Given the description of an element on the screen output the (x, y) to click on. 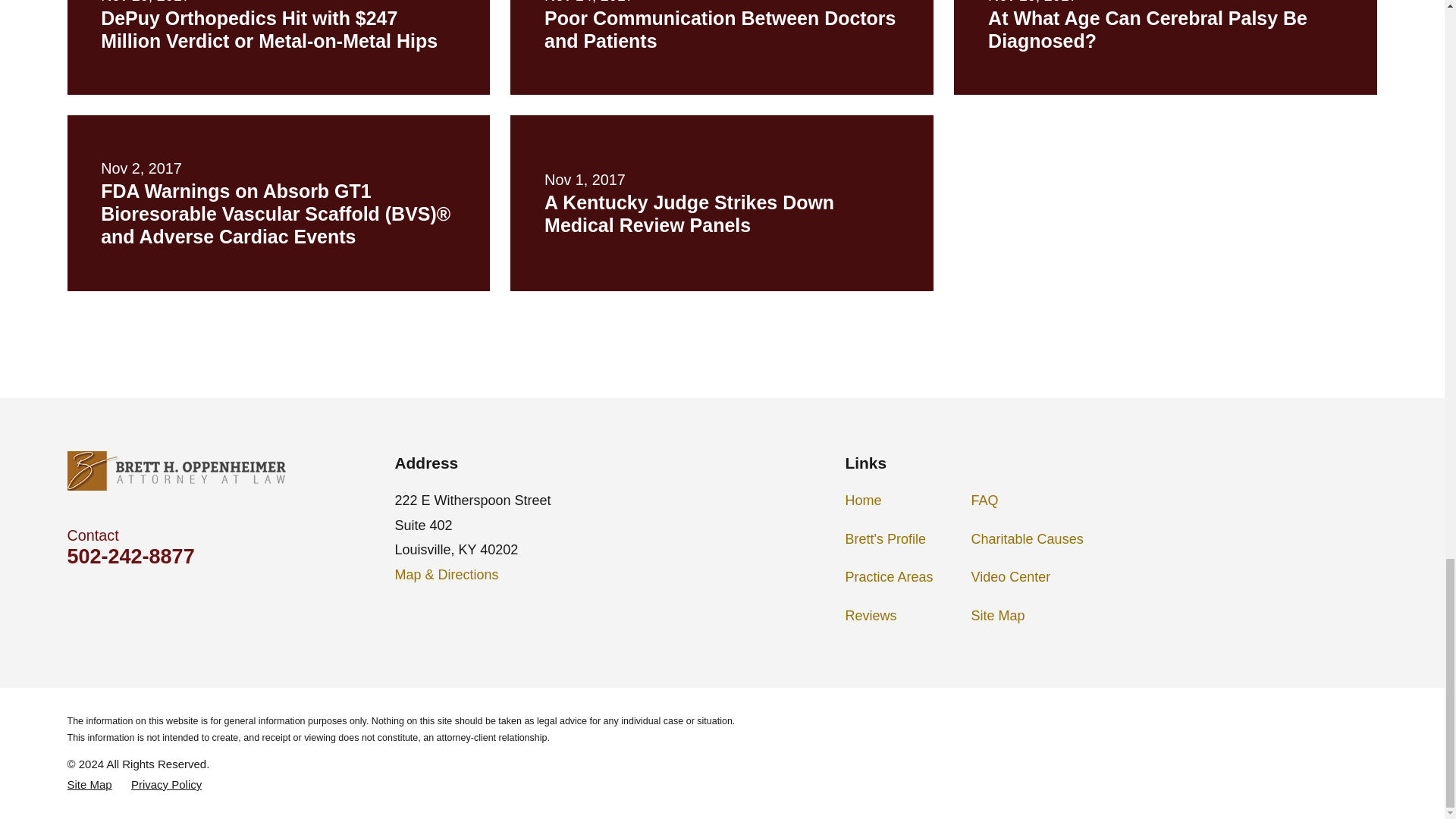
Home (175, 470)
